Given the description of an element on the screen output the (x, y) to click on. 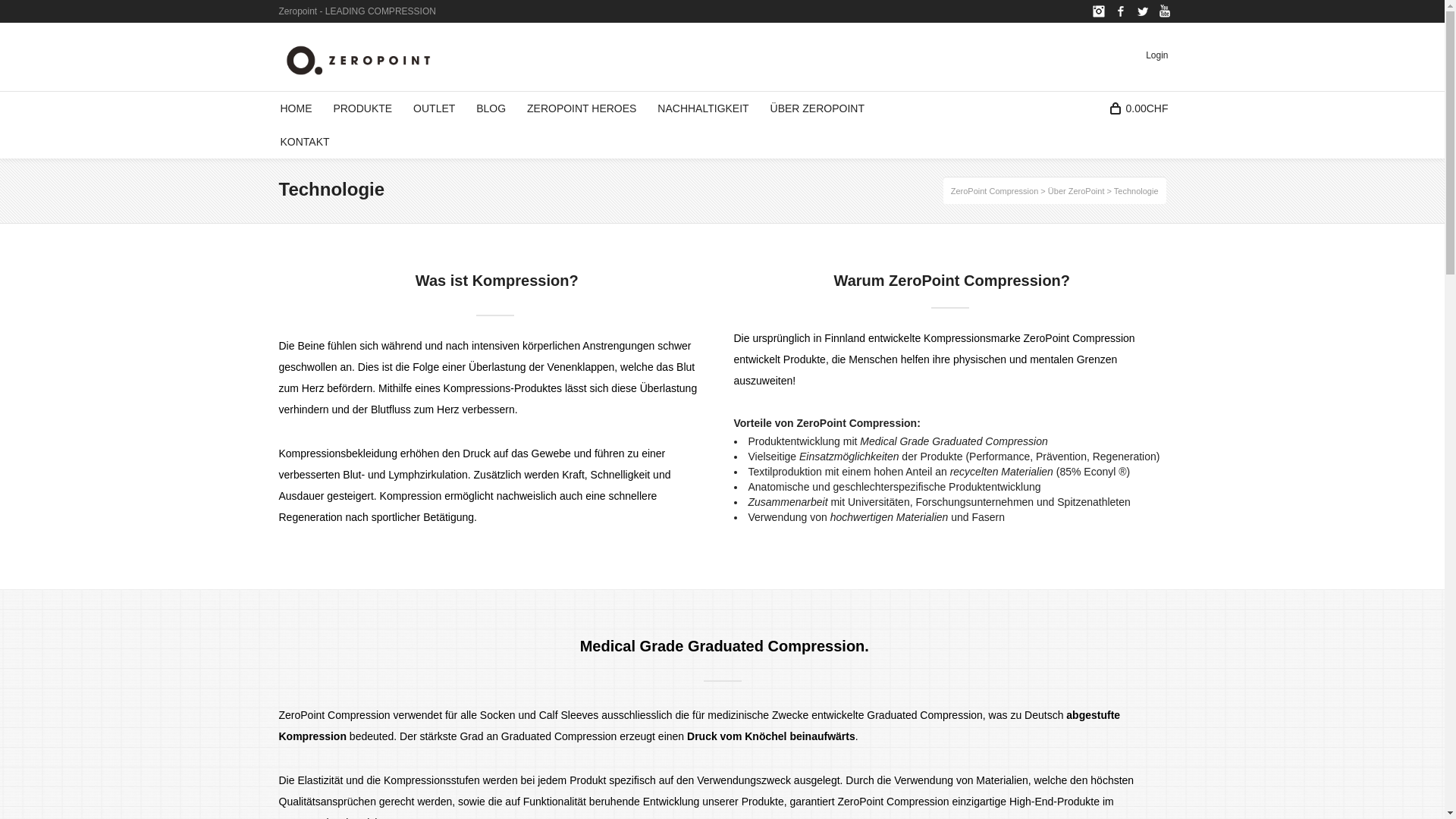
YouTube Element type: text (1164, 11)
ZeroPoint Compression Element type: text (994, 190)
Facebook Element type: text (1120, 11)
NACHHALTIGKEIT Element type: text (702, 108)
Instagram Element type: text (1097, 11)
Twitter Element type: text (1141, 11)
PRODUKTE Element type: text (362, 108)
BLOG Element type: text (490, 108)
KONTAKT Element type: text (304, 141)
ZEROPOINT HEROES Element type: text (581, 108)
OUTLET Element type: text (434, 108)
HOME Element type: text (296, 108)
0.00CHF Element type: text (1143, 108)
Login Element type: text (1160, 54)
